Given the description of an element on the screen output the (x, y) to click on. 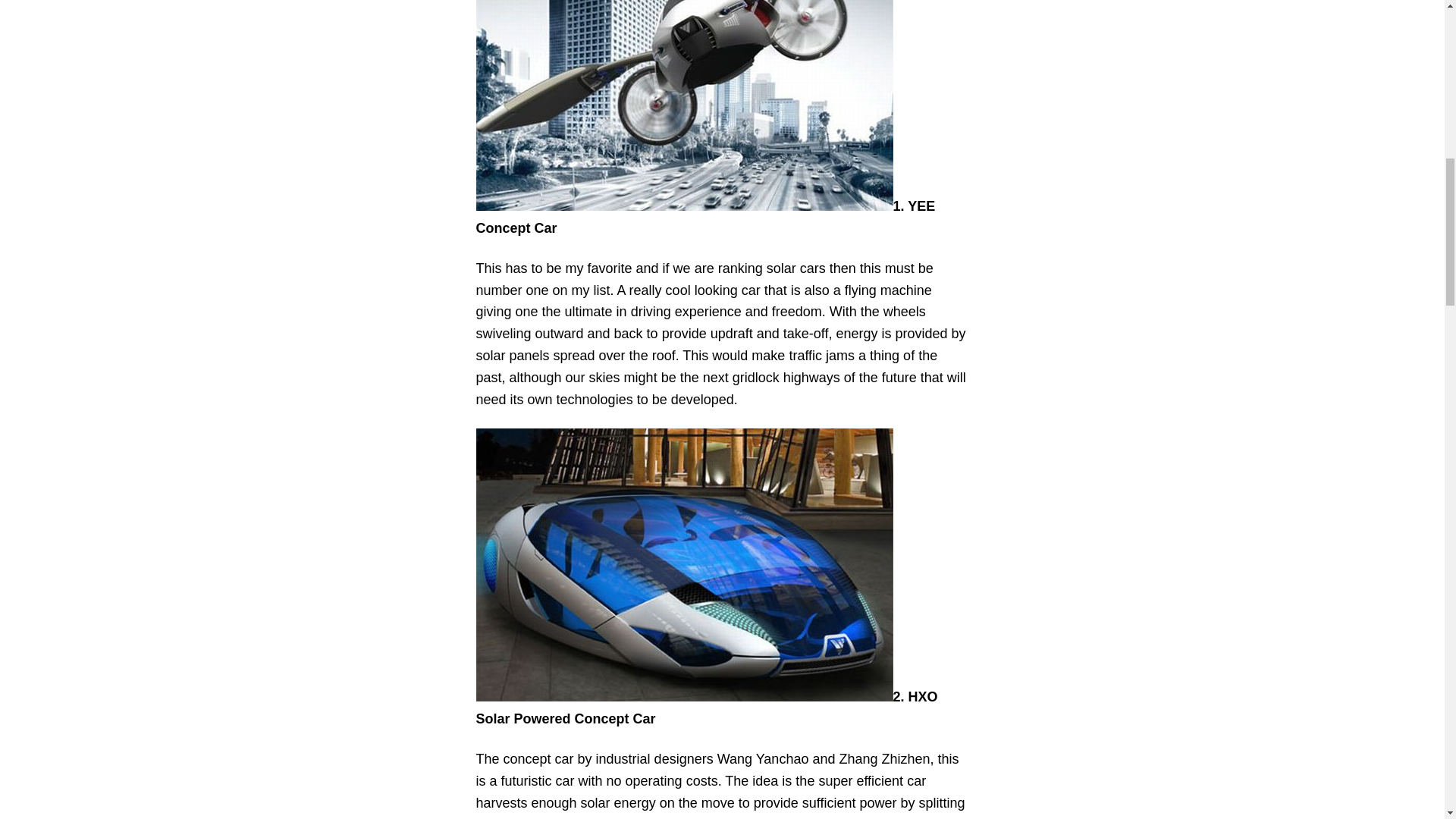
Solar Powered Flying Car (684, 105)
HXO Concept-car (684, 564)
